Given the description of an element on the screen output the (x, y) to click on. 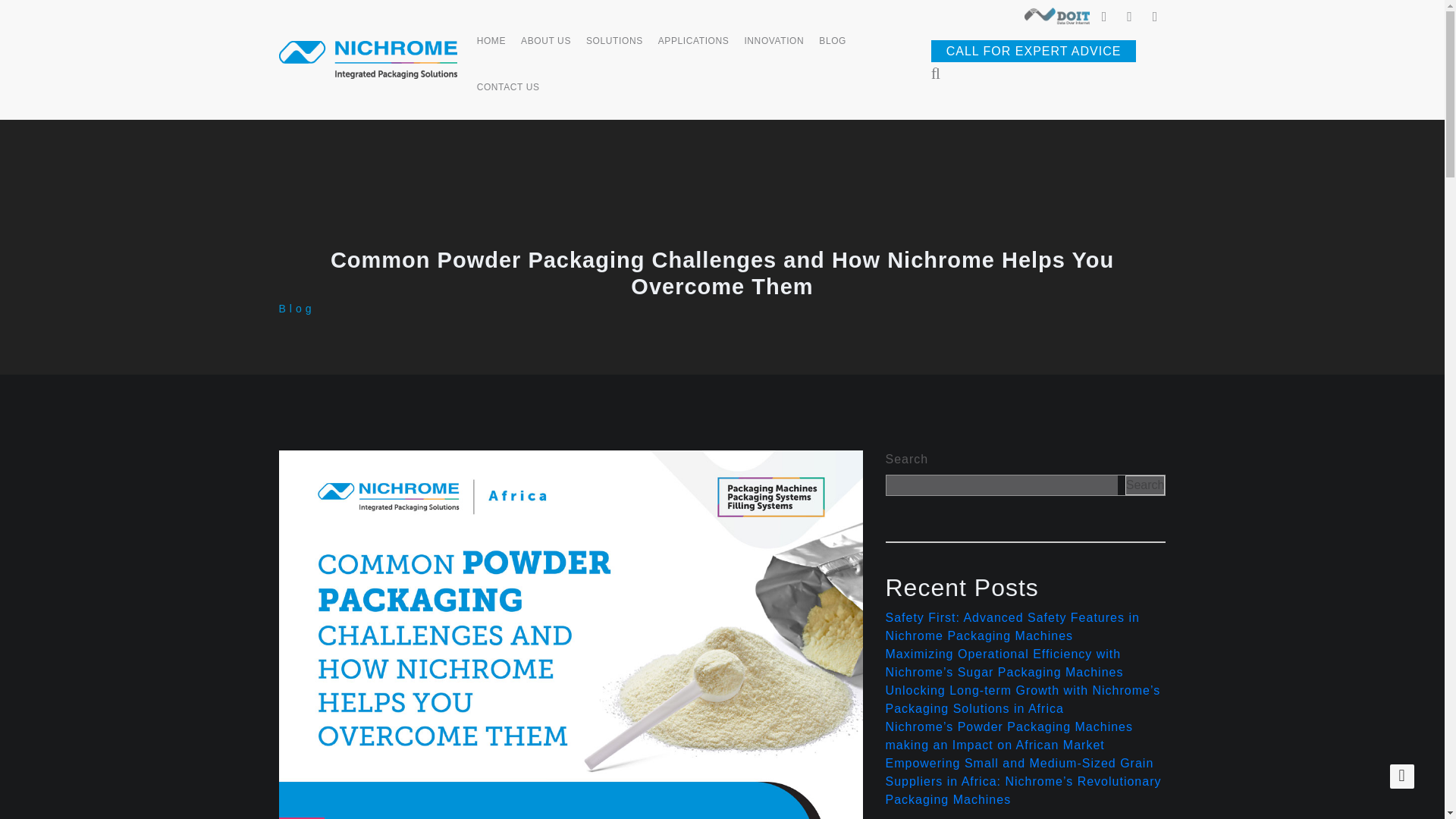
APPLICATIONS (693, 49)
INNOVATION (773, 49)
ABOUT US (545, 49)
CALL FOR EXPERT ADVICE (1034, 51)
BLOG (831, 49)
HOME (490, 49)
SOLUTIONS (614, 49)
CONTACT US (507, 95)
